Given the description of an element on the screen output the (x, y) to click on. 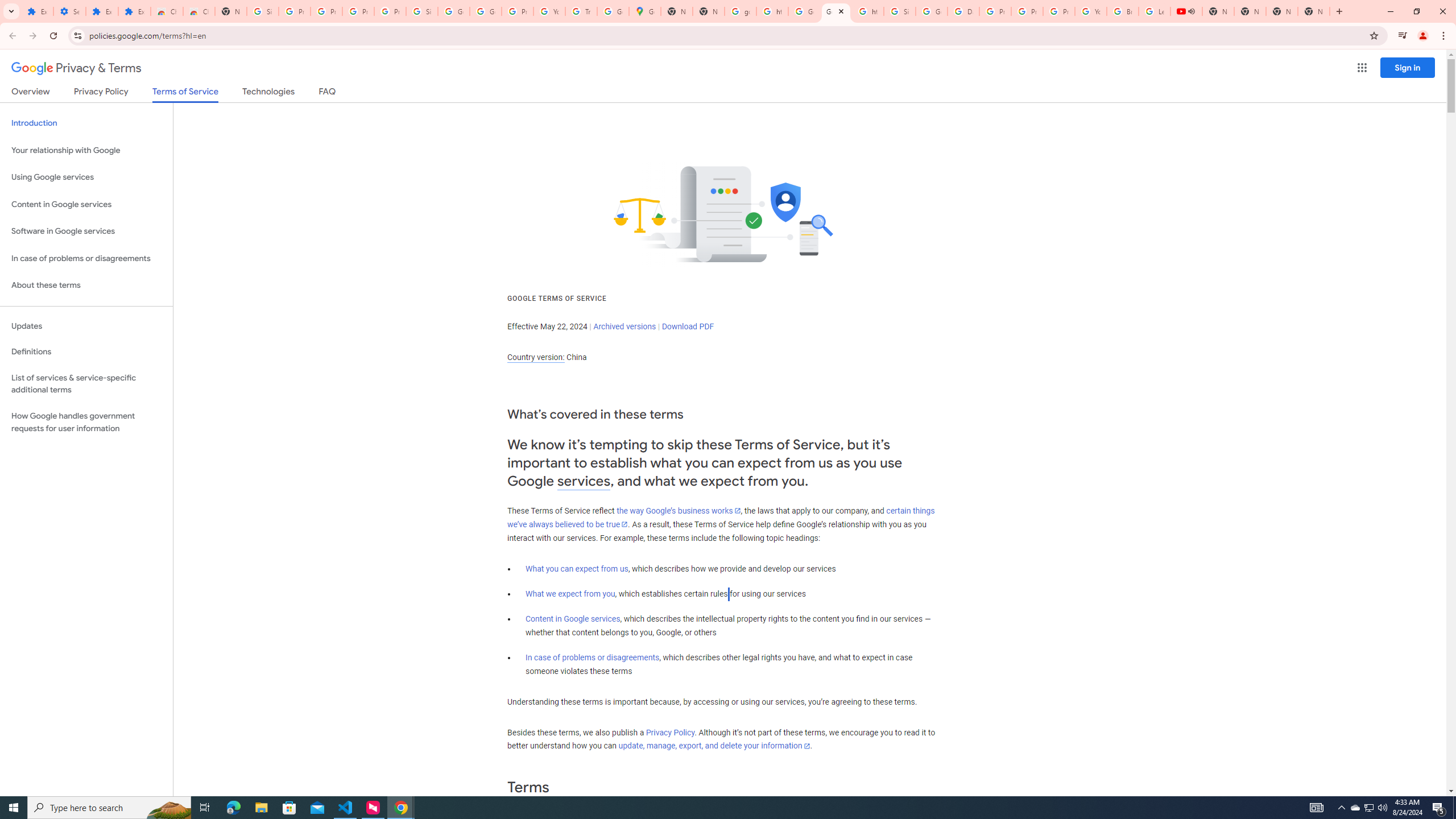
Google apps (1362, 67)
Extensions (134, 11)
YouTube (549, 11)
Terms of Service (184, 94)
Extensions (101, 11)
Definitions (86, 352)
Mute tab (1190, 10)
Chrome Web Store - Themes (198, 11)
